Given the description of an element on the screen output the (x, y) to click on. 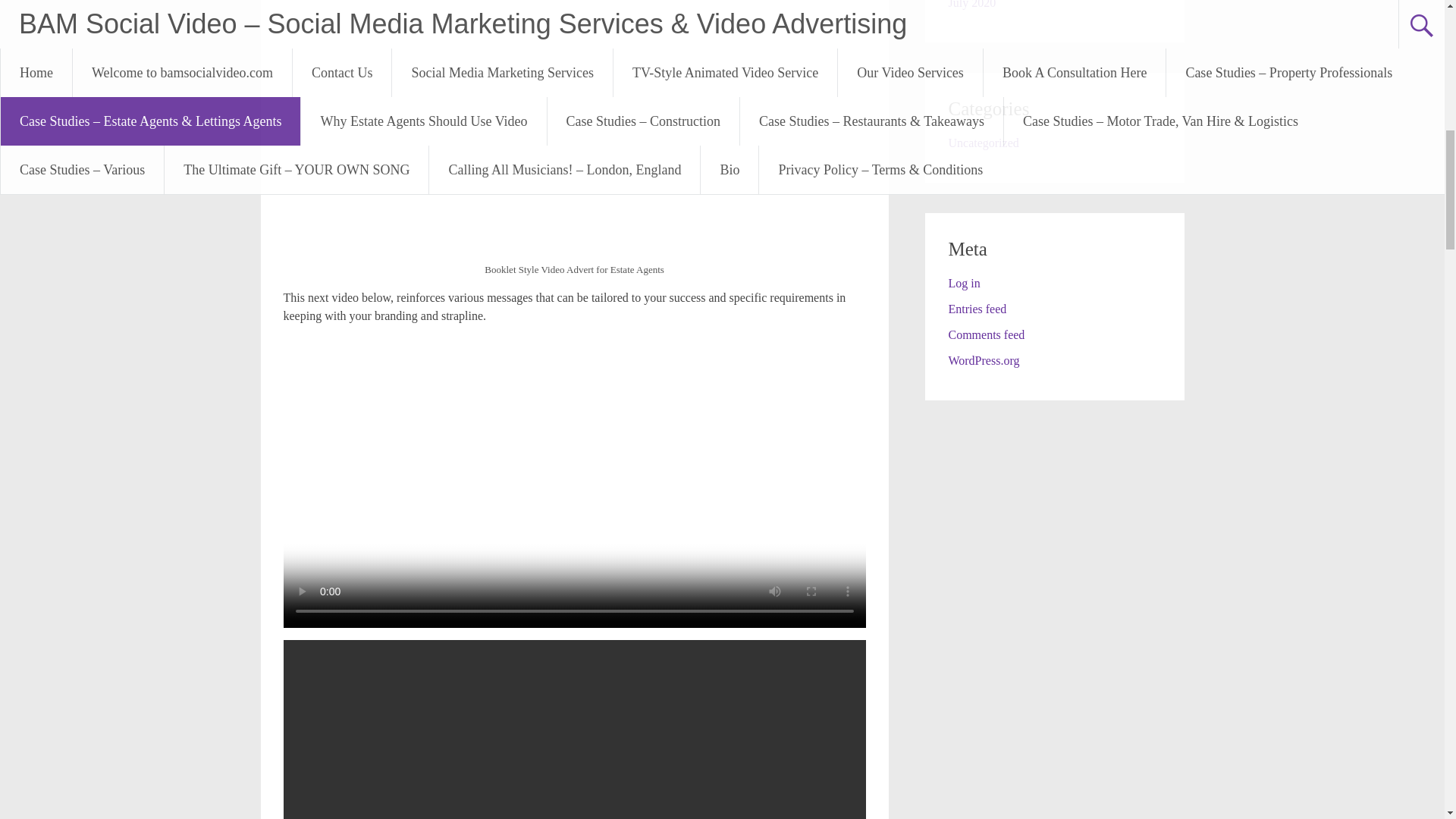
Comments feed (986, 334)
Entries feed (976, 308)
Log in (963, 282)
WordPress.org (983, 359)
July 2020 (971, 4)
Uncategorized (982, 142)
